Given the description of an element on the screen output the (x, y) to click on. 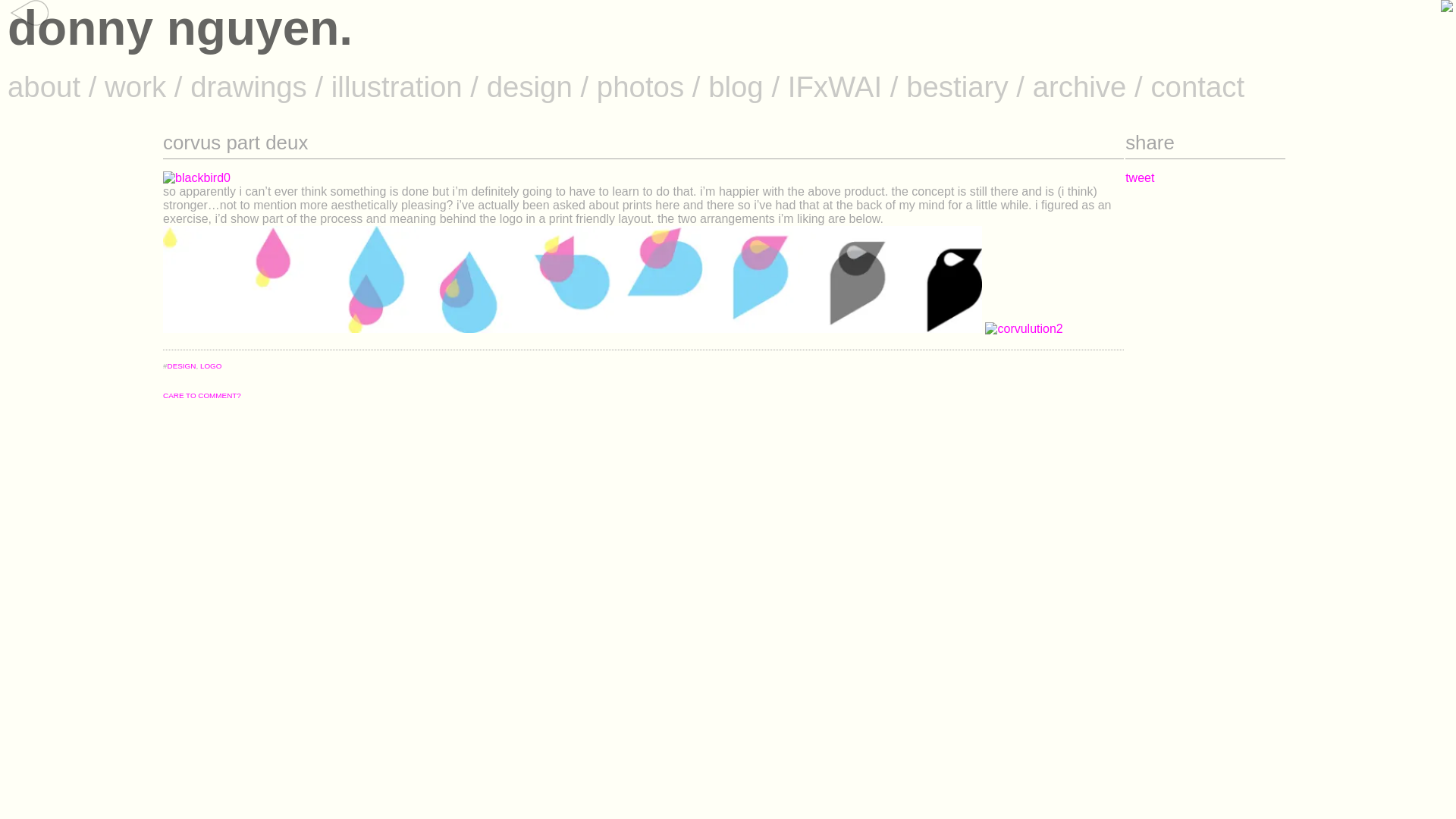
IFxWAI (834, 86)
illustration (397, 86)
bestiary (956, 86)
contact (1197, 86)
blog (734, 86)
archive (1079, 86)
tweet (1139, 177)
design (529, 86)
about (43, 86)
DESIGN (181, 365)
